Given the description of an element on the screen output the (x, y) to click on. 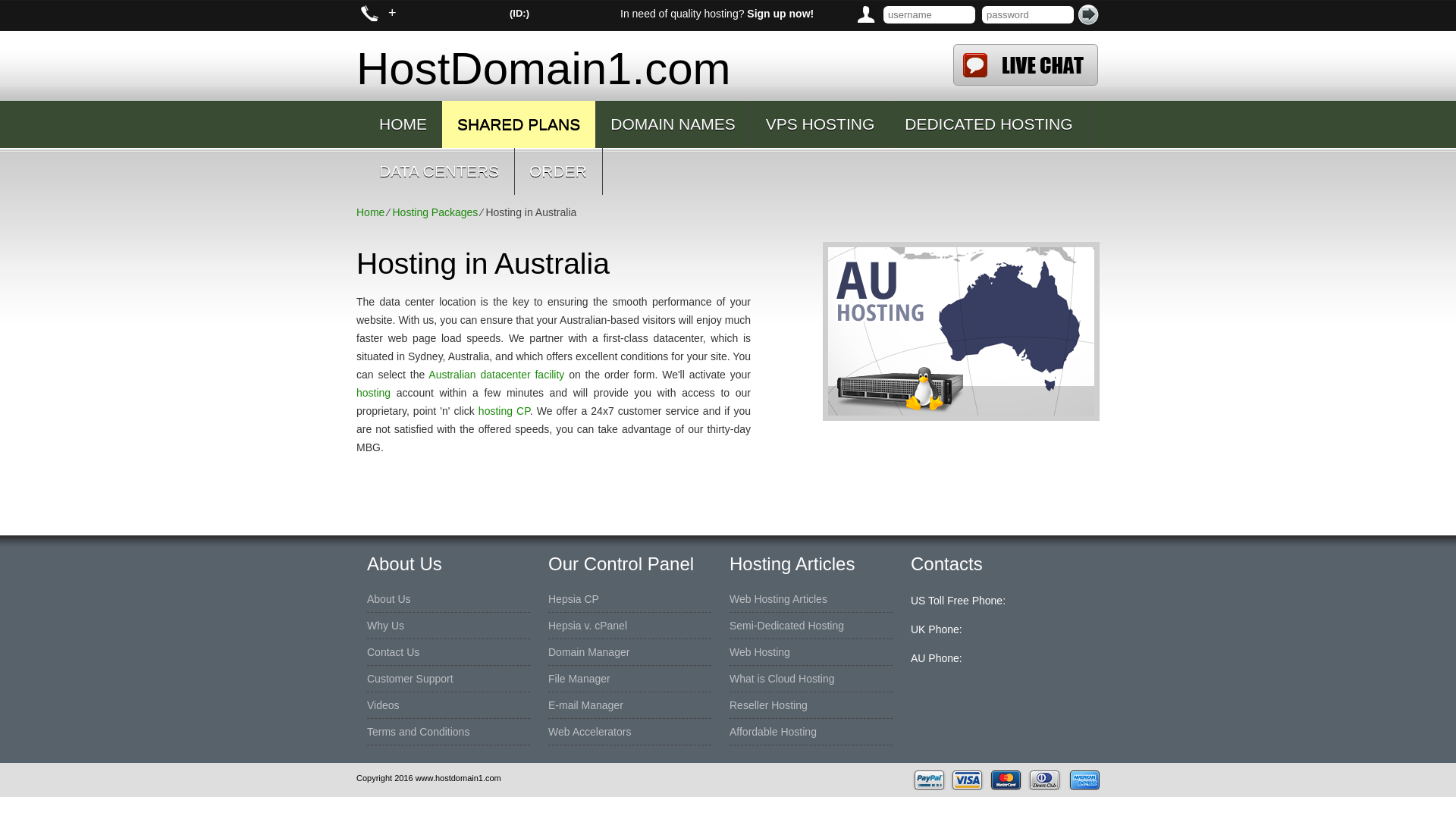
Australian datacenter facility (496, 374)
HOME (403, 124)
Sign up now! (779, 13)
VPS HOSTING (820, 124)
ORDER (557, 171)
Terms and Conditions (417, 731)
DOMAIN NAMES (673, 124)
Videos (382, 704)
hosting (373, 392)
DEDICATED HOSTING (988, 124)
